Given the description of an element on the screen output the (x, y) to click on. 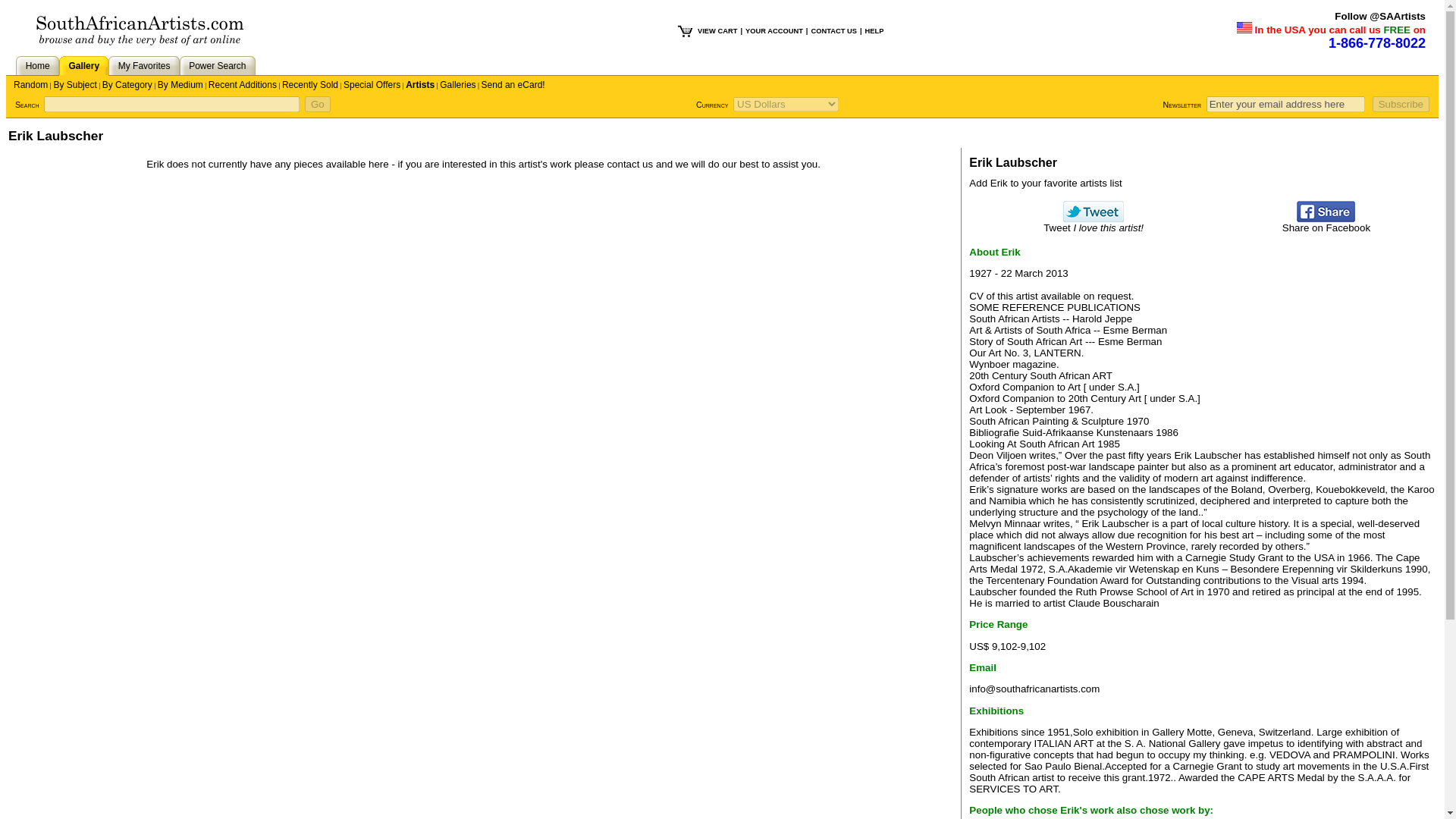
YOUR ACCOUNT (774, 31)
By Subject (74, 84)
Special Offers (371, 84)
contact us (629, 163)
Recently Sold (309, 84)
Gallery (83, 65)
By Medium (180, 84)
Enter your email address here (1286, 104)
Share this page on Facebook (1326, 218)
By Category (126, 84)
